Given the description of an element on the screen output the (x, y) to click on. 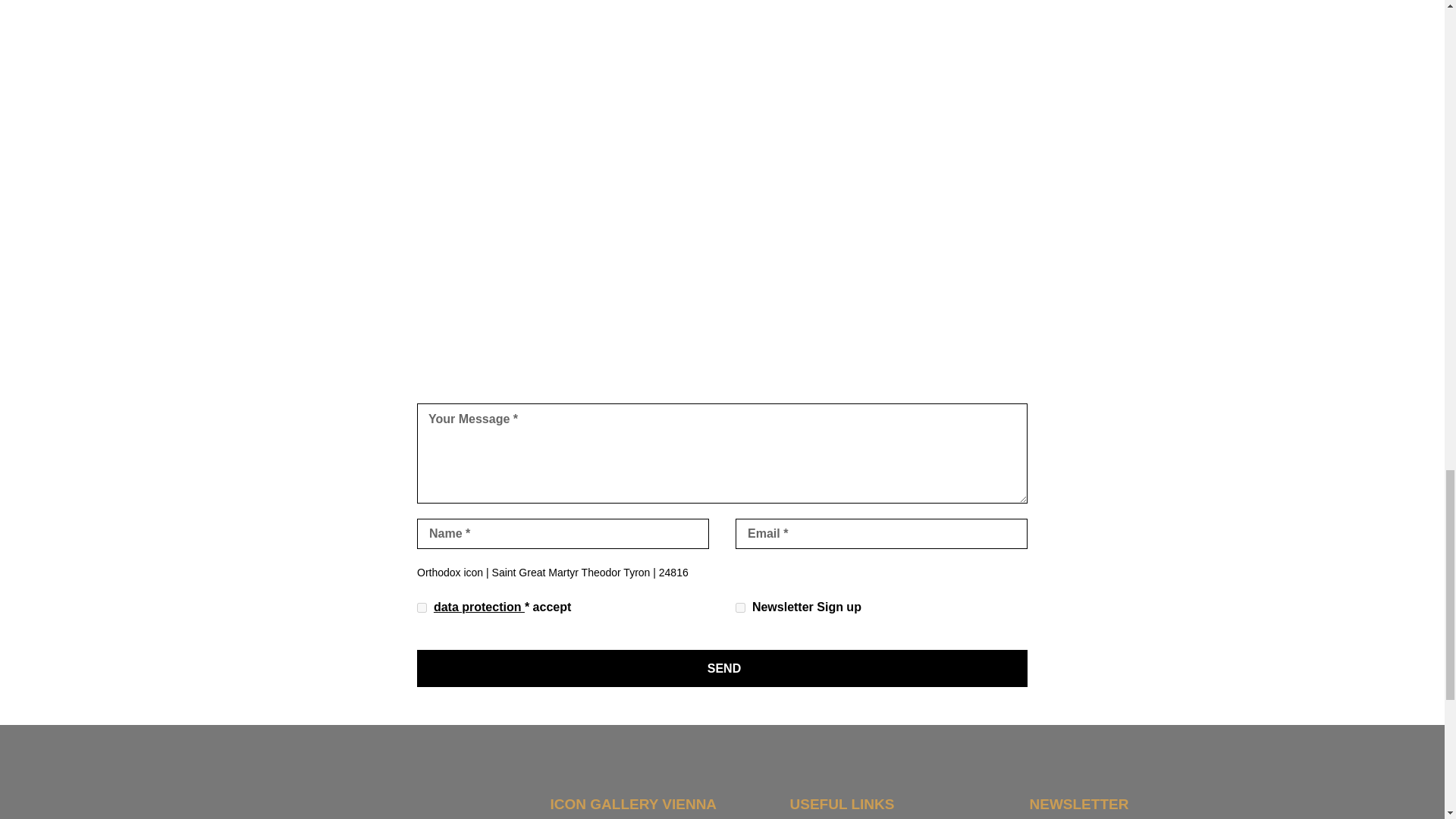
on (421, 607)
Newsletter Sign up (740, 607)
